Given the description of an element on the screen output the (x, y) to click on. 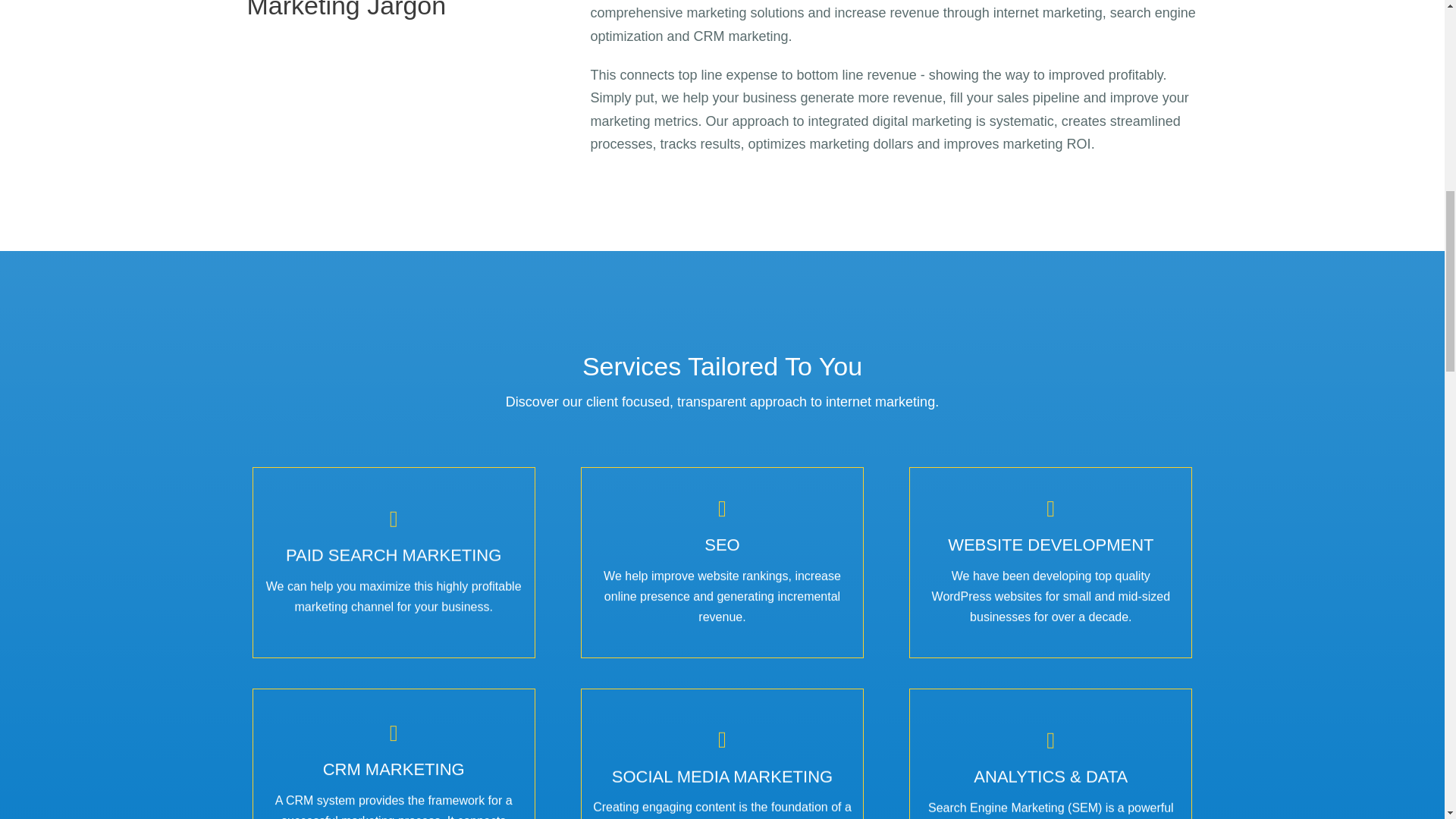
Learn More (722, 612)
Click Here (722, 612)
Click Here (393, 612)
Learn More (393, 612)
Learn More (1050, 622)
Click Here (1050, 622)
